Given the description of an element on the screen output the (x, y) to click on. 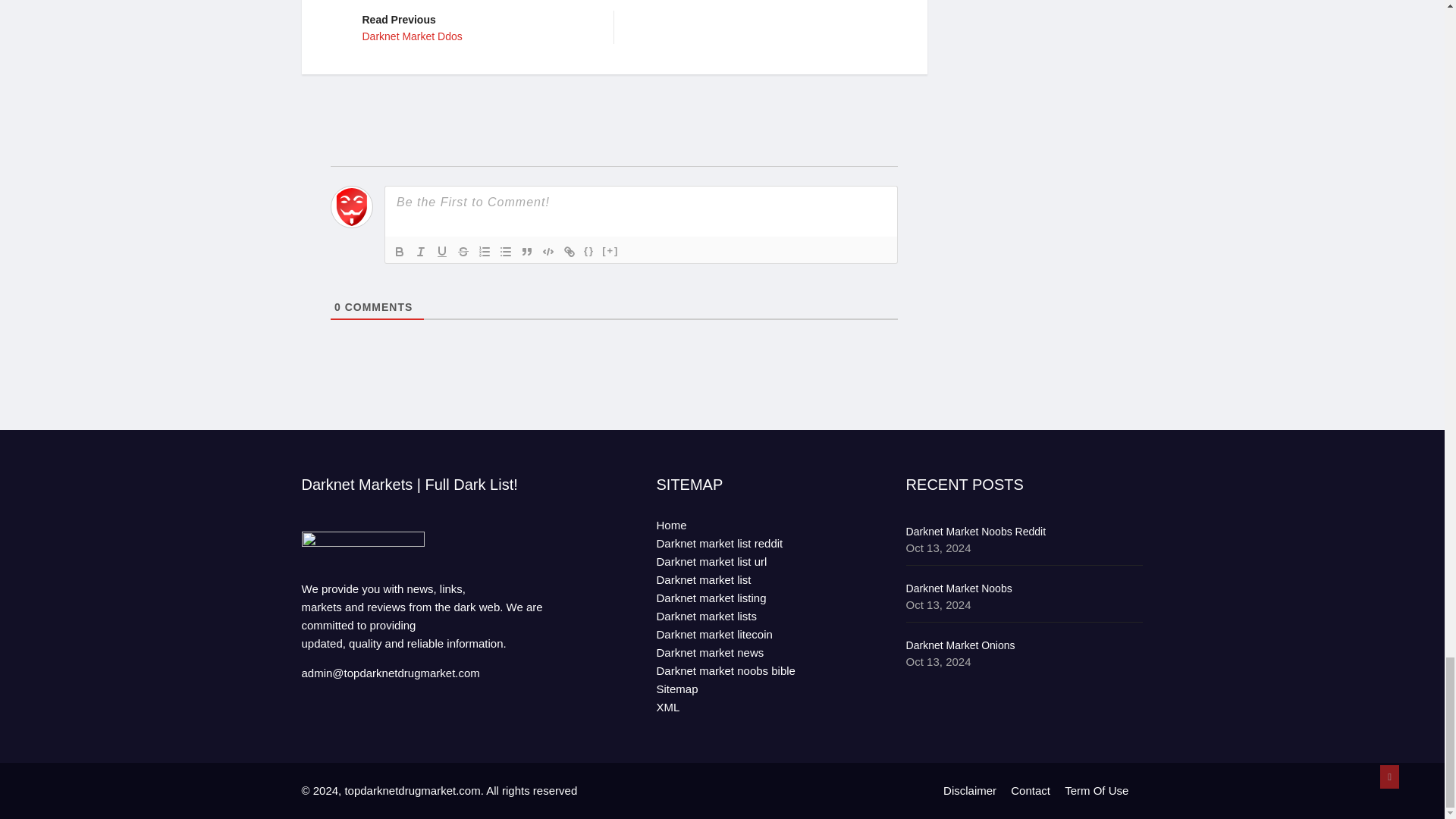
Code Block (548, 250)
Italic (420, 250)
Link (569, 250)
Source Code (588, 250)
Underline (441, 250)
Strike (463, 250)
Unordered List (505, 250)
Bold (476, 26)
Ordered List (399, 250)
